Given the description of an element on the screen output the (x, y) to click on. 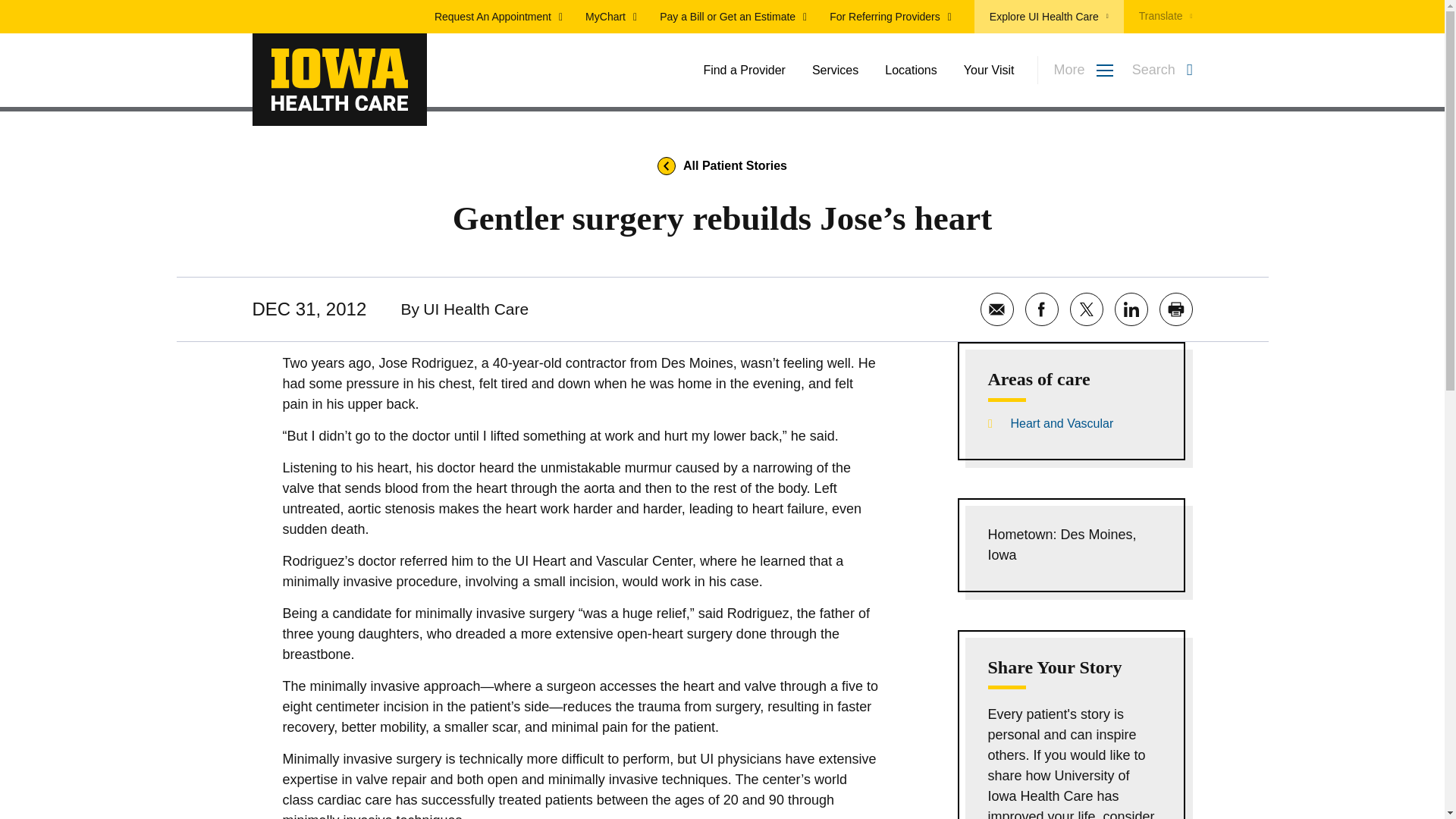
Locations (911, 70)
Find a Provider (744, 70)
Search (1171, 78)
Services (835, 70)
For Referring Providers (890, 16)
Translate (1158, 16)
Pay a Bill or Get an Estimate (732, 16)
More (1074, 70)
Explore UI Health Care (1049, 16)
Home (338, 79)
Request An Appointment (497, 16)
Skip to main content (721, 9)
Search (1162, 69)
MyChart (611, 16)
Your Visit (988, 70)
